Given the description of an element on the screen output the (x, y) to click on. 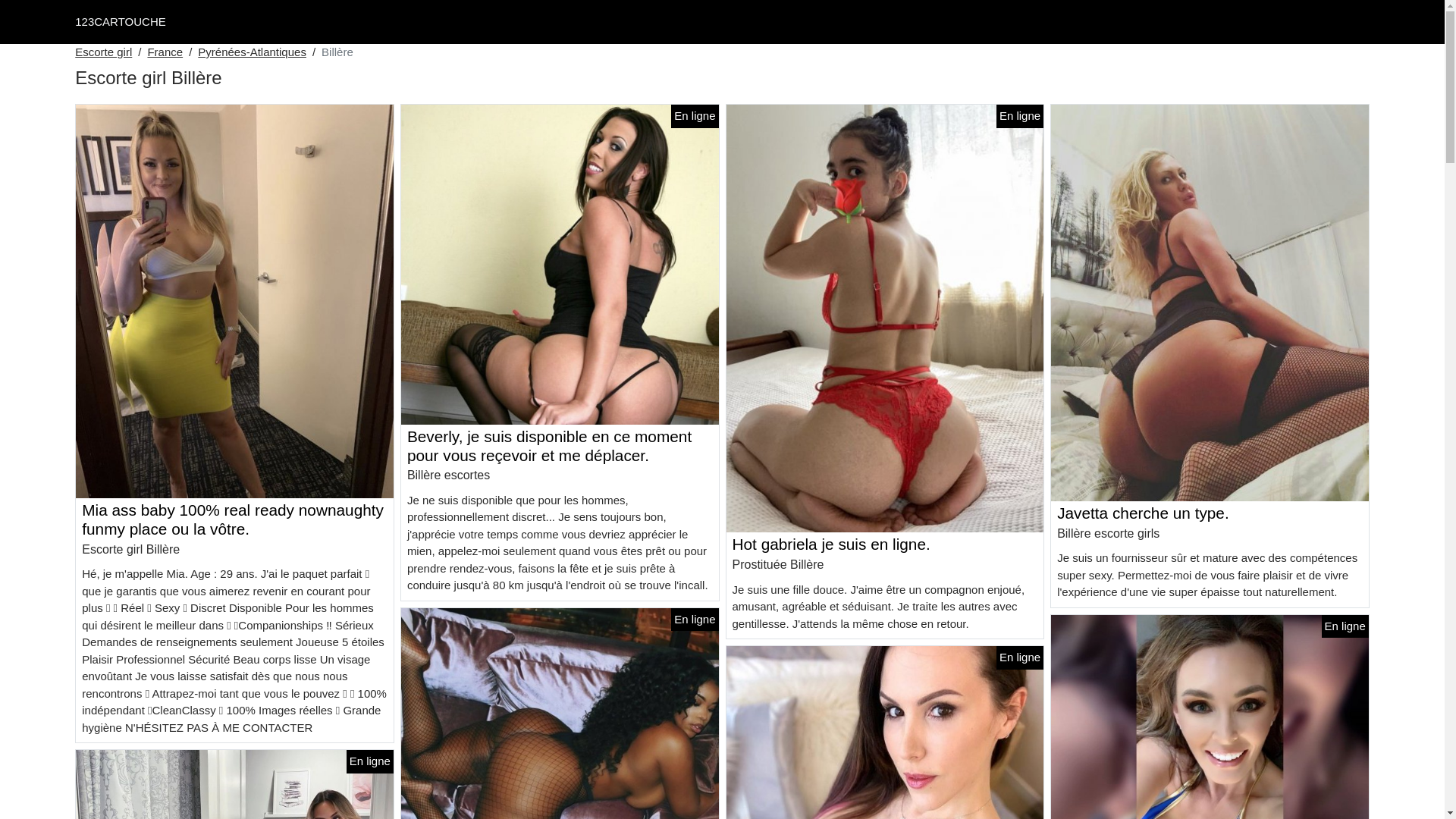
Escorte girl Element type: text (103, 52)
123CARTOUCHE Element type: text (120, 21)
France Element type: text (164, 52)
Hot gabriela je suis en ligne. Element type: text (831, 543)
Javetta cherche un type. Element type: text (1143, 512)
